Given the description of an element on the screen output the (x, y) to click on. 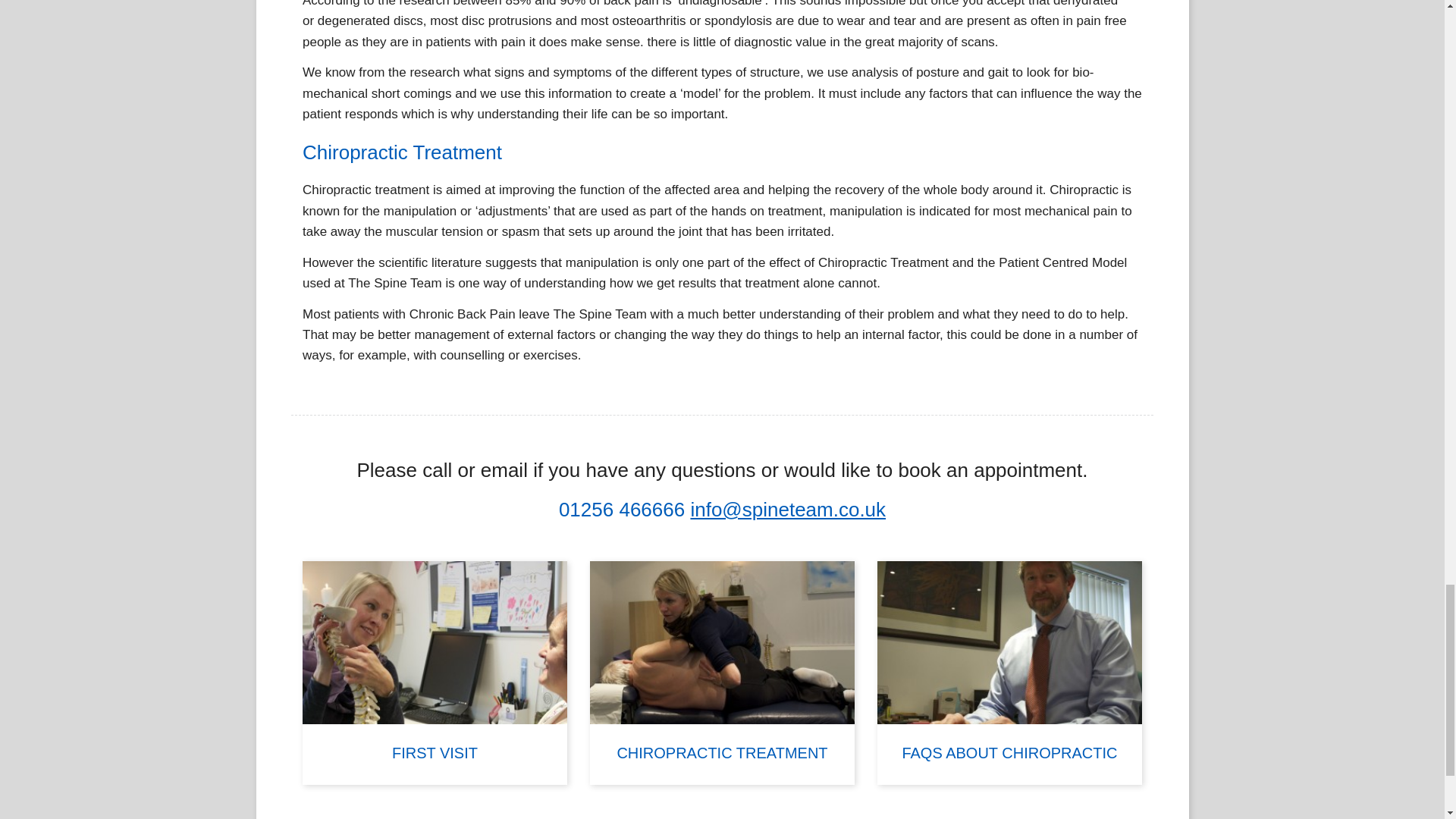
CHIROPRACTIC TREATMENT (721, 672)
FIRST VISIT (434, 672)
FAQS ABOUT CHIROPRACTIC (1009, 672)
